Given the description of an element on the screen output the (x, y) to click on. 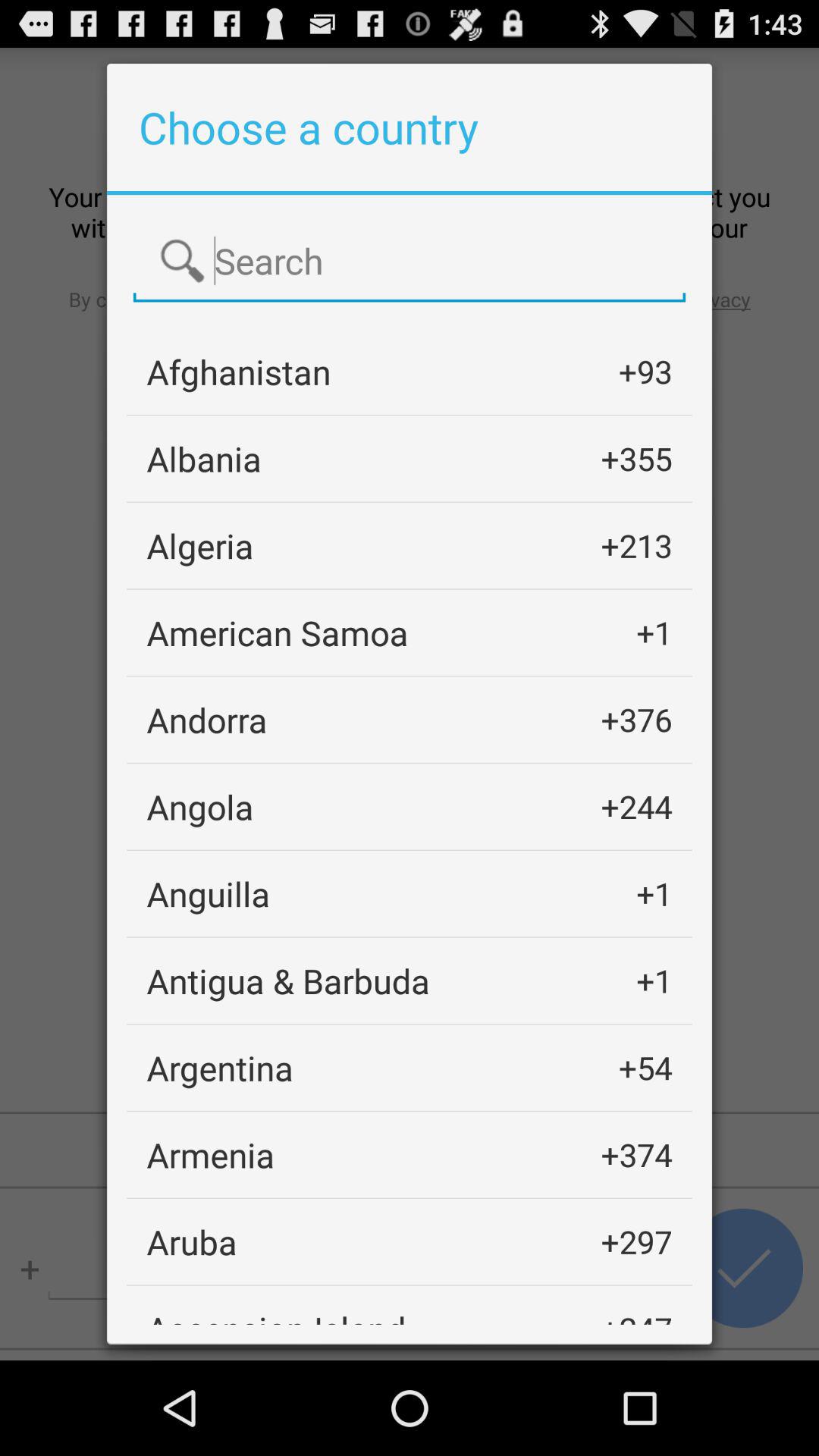
tap icon above the algeria (203, 458)
